Given the description of an element on the screen output the (x, y) to click on. 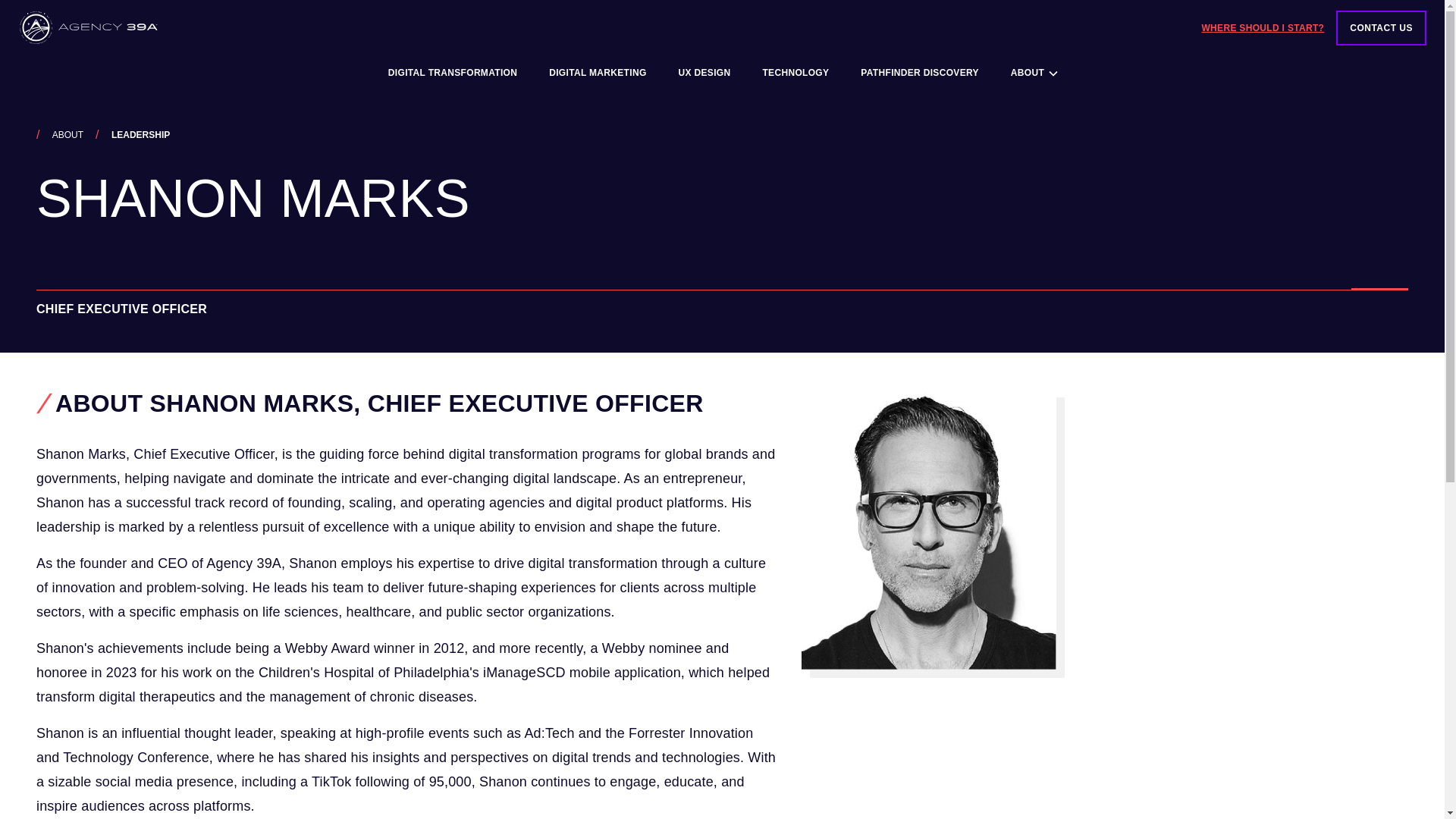
UX DESIGN (704, 73)
PATHFINDER DISCOVERY (920, 73)
TECHNOLOGY (795, 73)
WHERE SHOULD I START? (1262, 27)
DIGITAL TRANSFORMATION (452, 73)
DIGITAL MARKETING (597, 73)
ABOUT (67, 134)
CONTACT US (1381, 27)
